Given the description of an element on the screen output the (x, y) to click on. 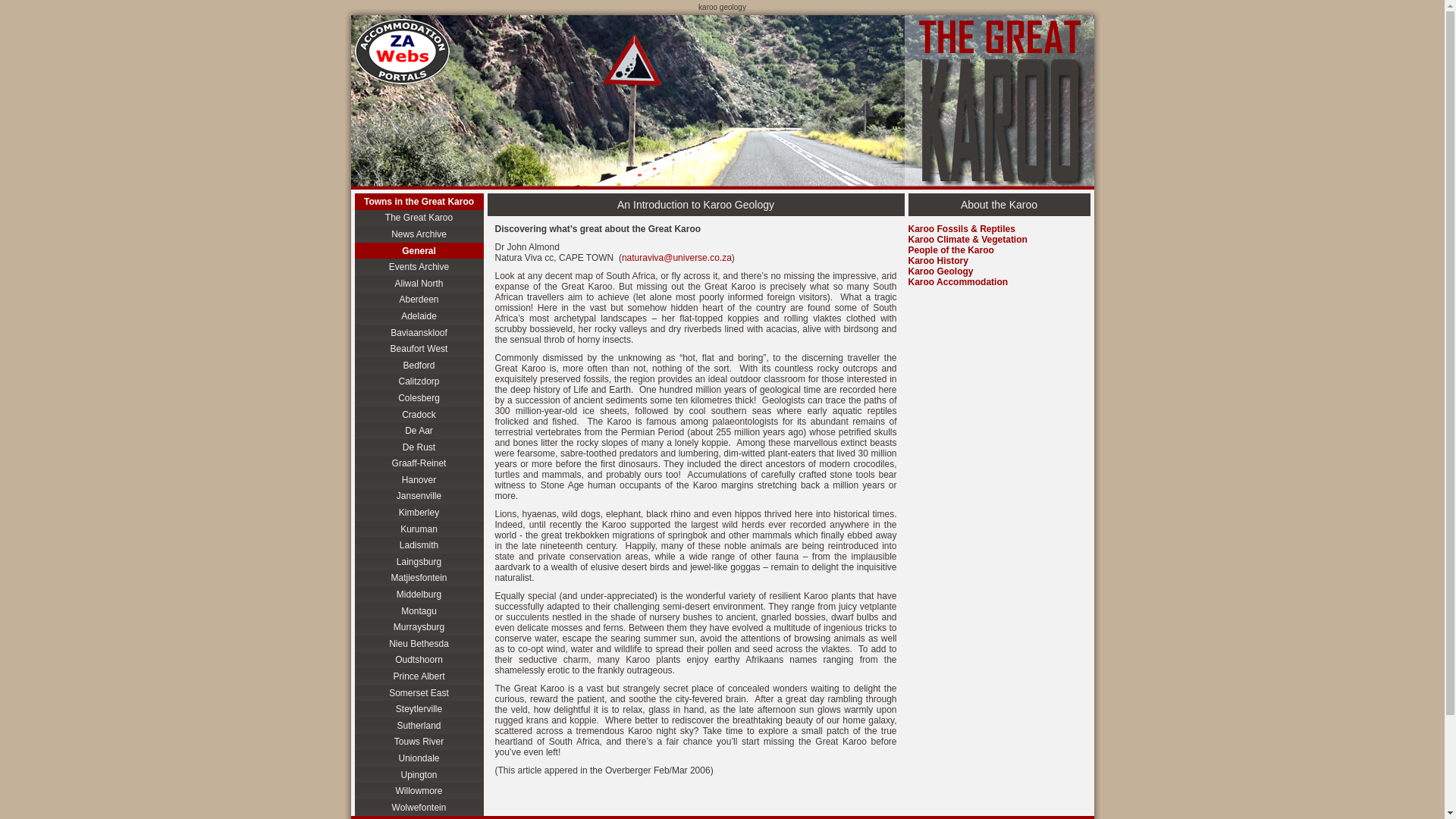
Touws River (419, 742)
Murraysburg (419, 627)
Graaff-Reinet (419, 463)
De Aar (419, 430)
De Rust (419, 446)
Beaufort West (419, 348)
People of the Karoo (951, 249)
Kimberley (419, 512)
Prince Albert (419, 676)
Calitzdorp (419, 381)
